Given the description of an element on the screen output the (x, y) to click on. 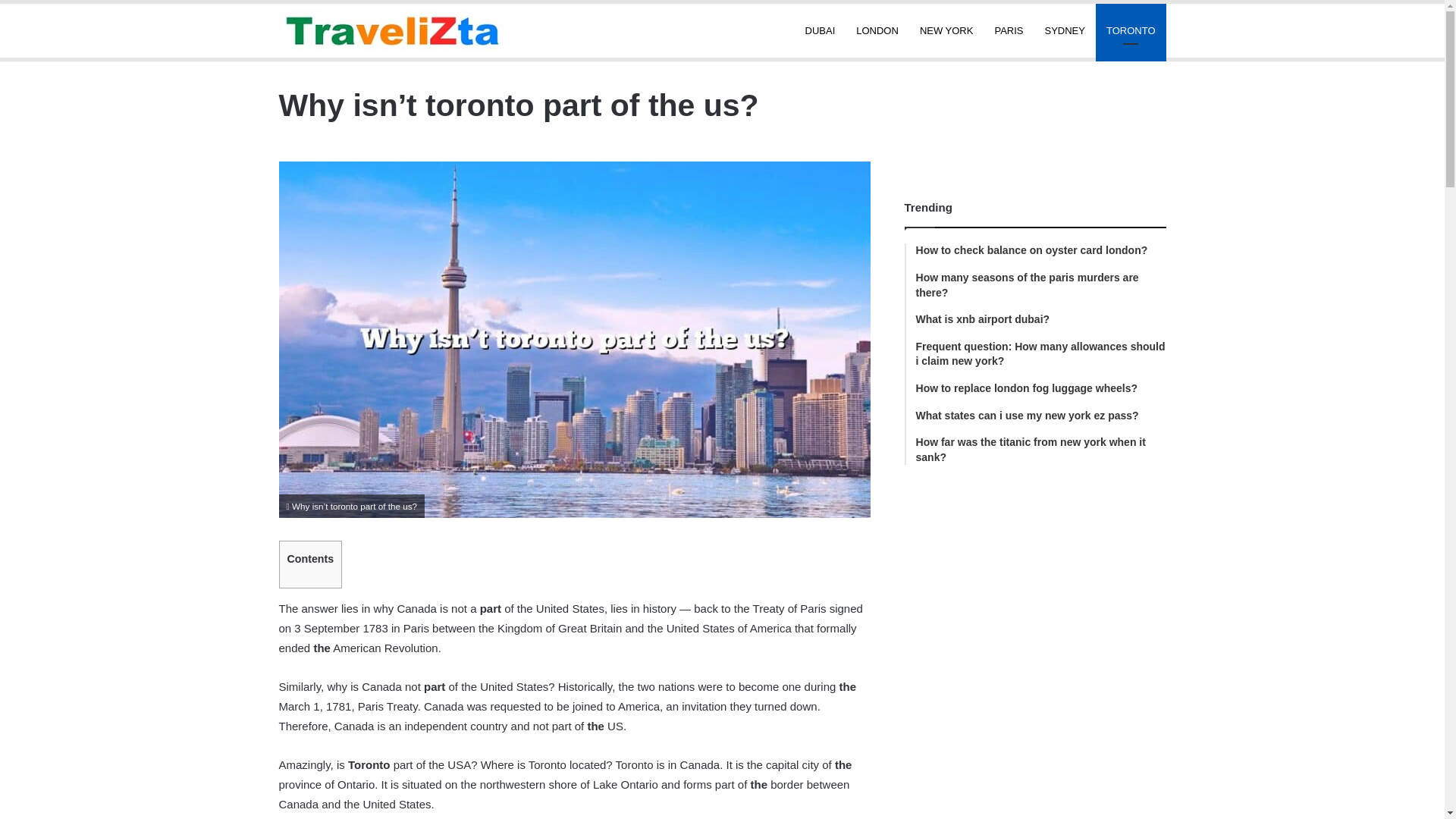
What is xnb airport dubai? (1040, 319)
LONDON (876, 30)
How to replace london fog luggage wheels? (1040, 388)
What states can i use my new york ez pass? (1040, 416)
How far was the titanic from new york when it sank? (1040, 449)
NEW YORK (946, 30)
How to check balance on oyster card london? (1040, 250)
TraveliZta (392, 30)
How many seasons of the paris murders are there? (1040, 285)
TORONTO (1131, 30)
DUBAI (819, 30)
SYDNEY (1064, 30)
PARIS (1008, 30)
